Given the description of an element on the screen output the (x, y) to click on. 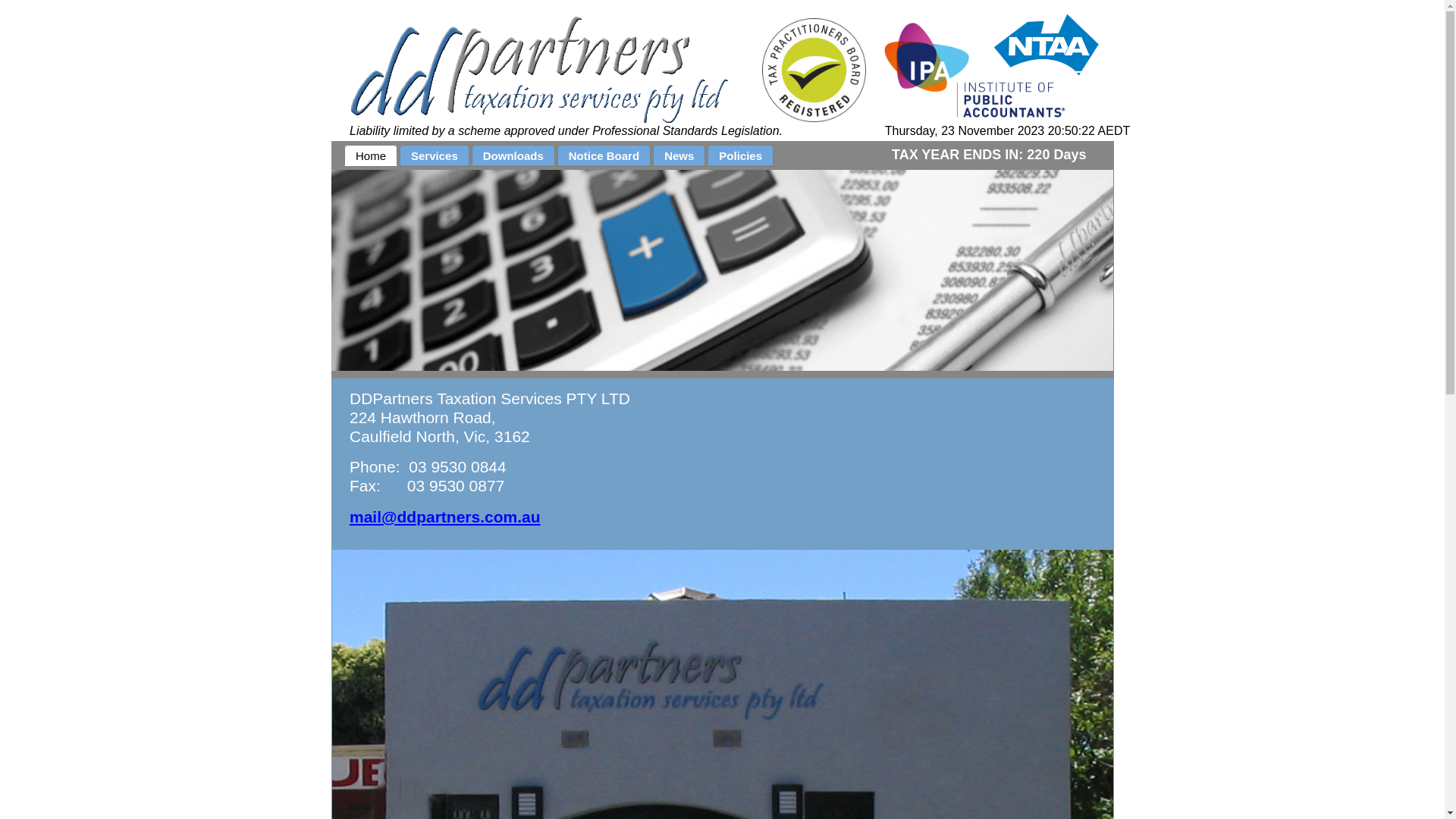
Policies Element type: text (740, 154)
Notice Board Element type: text (603, 154)
Home Element type: text (370, 155)
News Element type: text (678, 154)
mail@ddpartners.com.au Element type: text (444, 516)
Services Element type: text (434, 154)
Downloads Element type: text (513, 154)
